Given the description of an element on the screen output the (x, y) to click on. 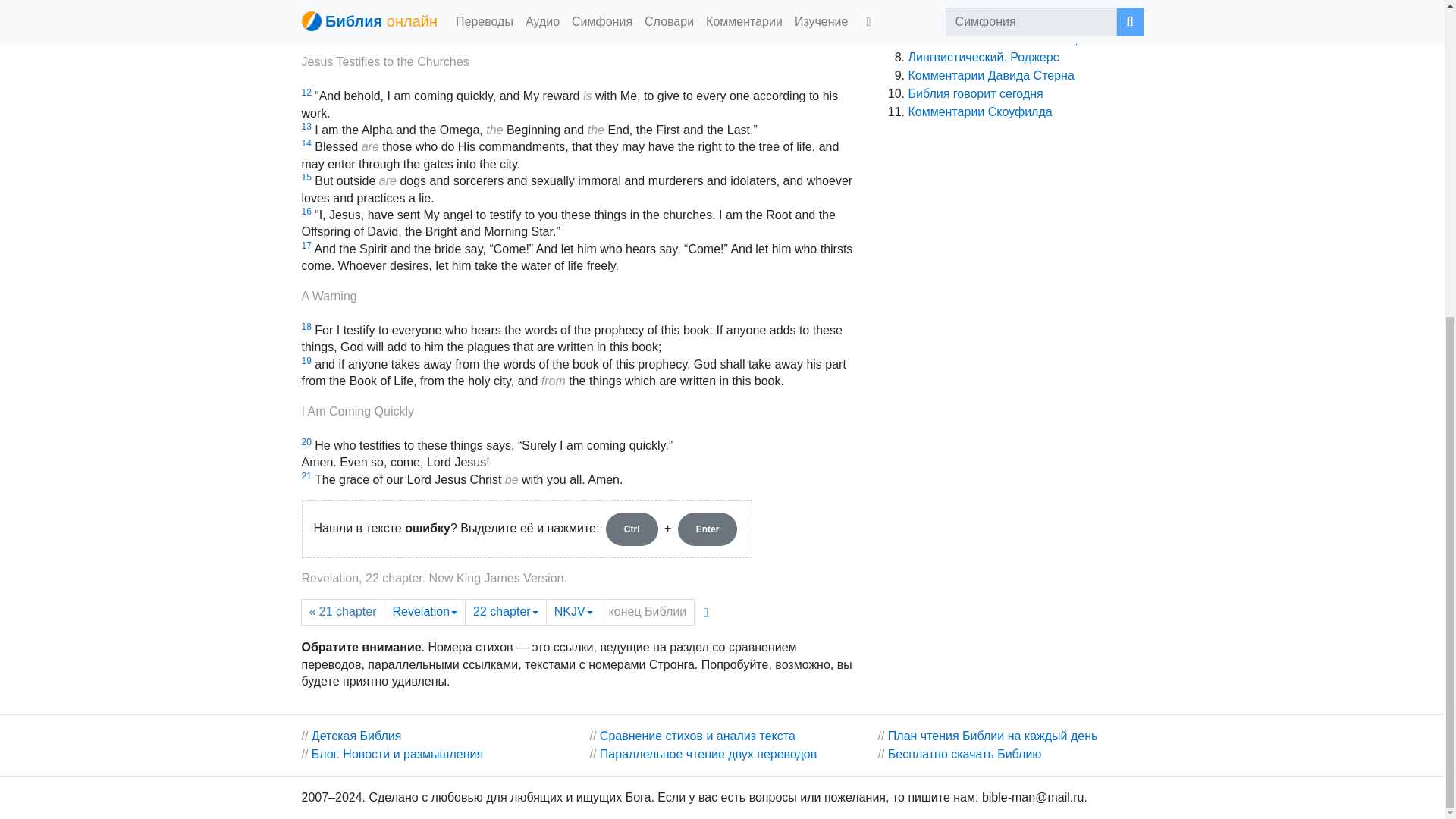
12 (306, 91)
11 (306, 10)
14 (306, 143)
13 (306, 126)
